Given the description of an element on the screen output the (x, y) to click on. 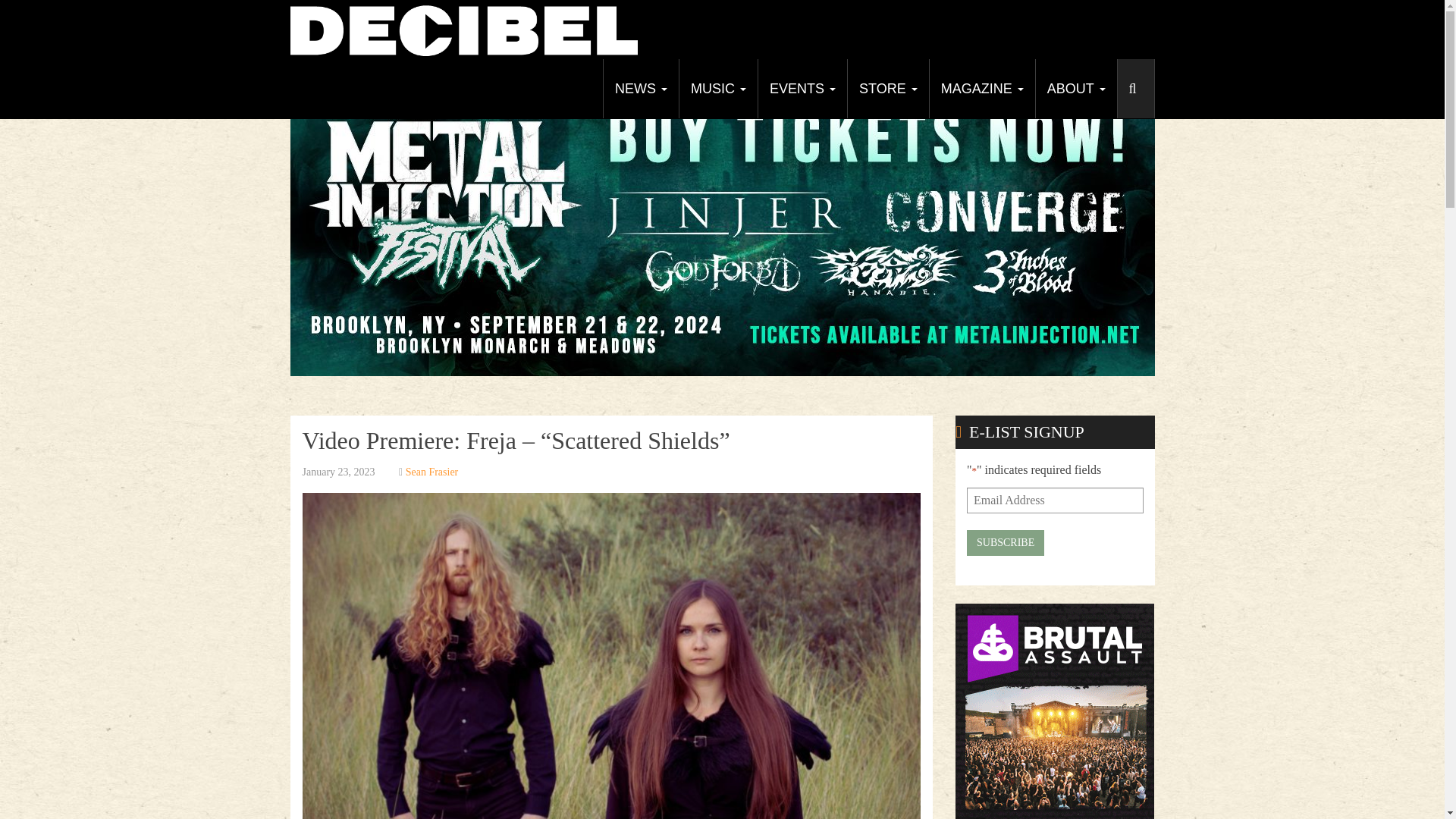
ABOUT (1075, 87)
News (640, 87)
Soundcloud (1139, 73)
Subscribe (1004, 542)
YouTube (1083, 73)
Facebook (1027, 73)
EVENTS (802, 87)
Events (802, 87)
Decibel Magazine (463, 28)
MUSIC (717, 87)
NEWS (640, 87)
STORE (887, 87)
Music (717, 87)
MAGAZINE (981, 87)
Twitter (1056, 73)
